Given the description of an element on the screen output the (x, y) to click on. 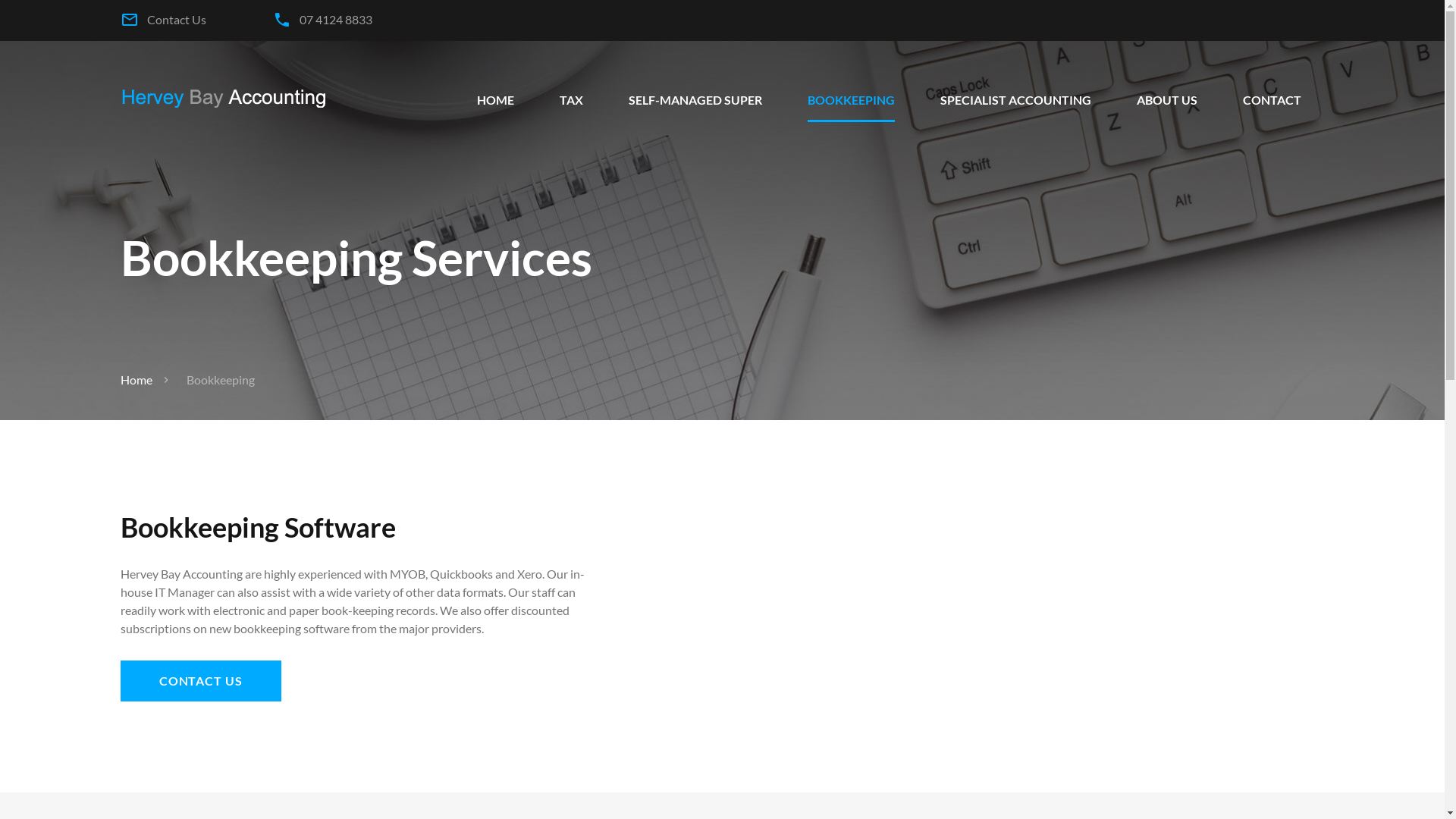
07 4124 8833 Element type: text (335, 19)
SELF-MANAGED SUPER Element type: text (695, 100)
SPECIALIST ACCOUNTING Element type: text (1015, 100)
TAX Element type: text (571, 100)
Home Element type: text (136, 379)
ABOUT US Element type: text (1166, 100)
CONTACT Element type: text (1271, 100)
BOOKKEEPING Element type: text (850, 100)
CONTACT US Element type: text (200, 680)
Contact Us Element type: text (176, 19)
HOME Element type: text (495, 100)
